Given the description of an element on the screen output the (x, y) to click on. 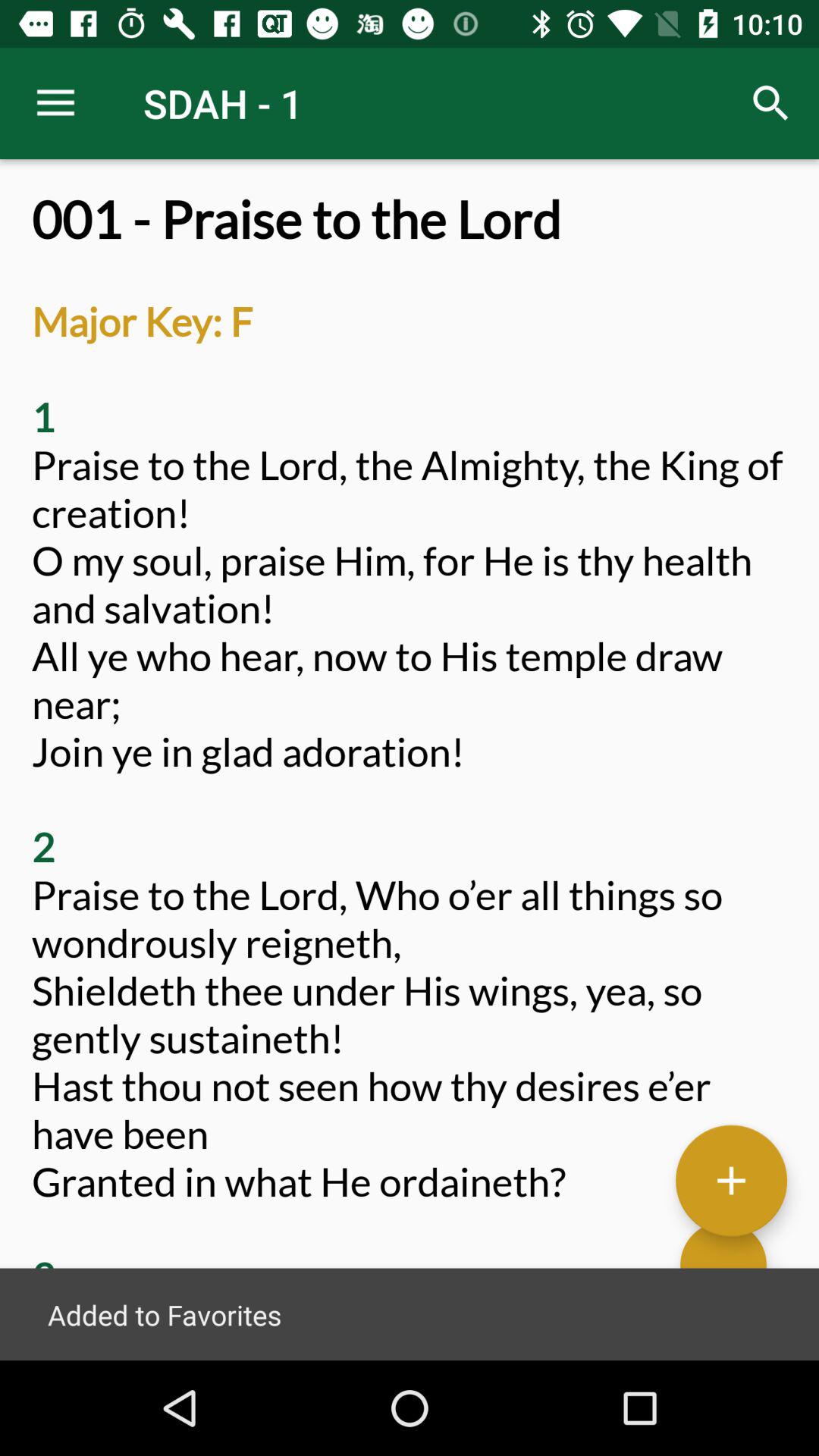
select the item next to sdah - 1 icon (771, 103)
